Given the description of an element on the screen output the (x, y) to click on. 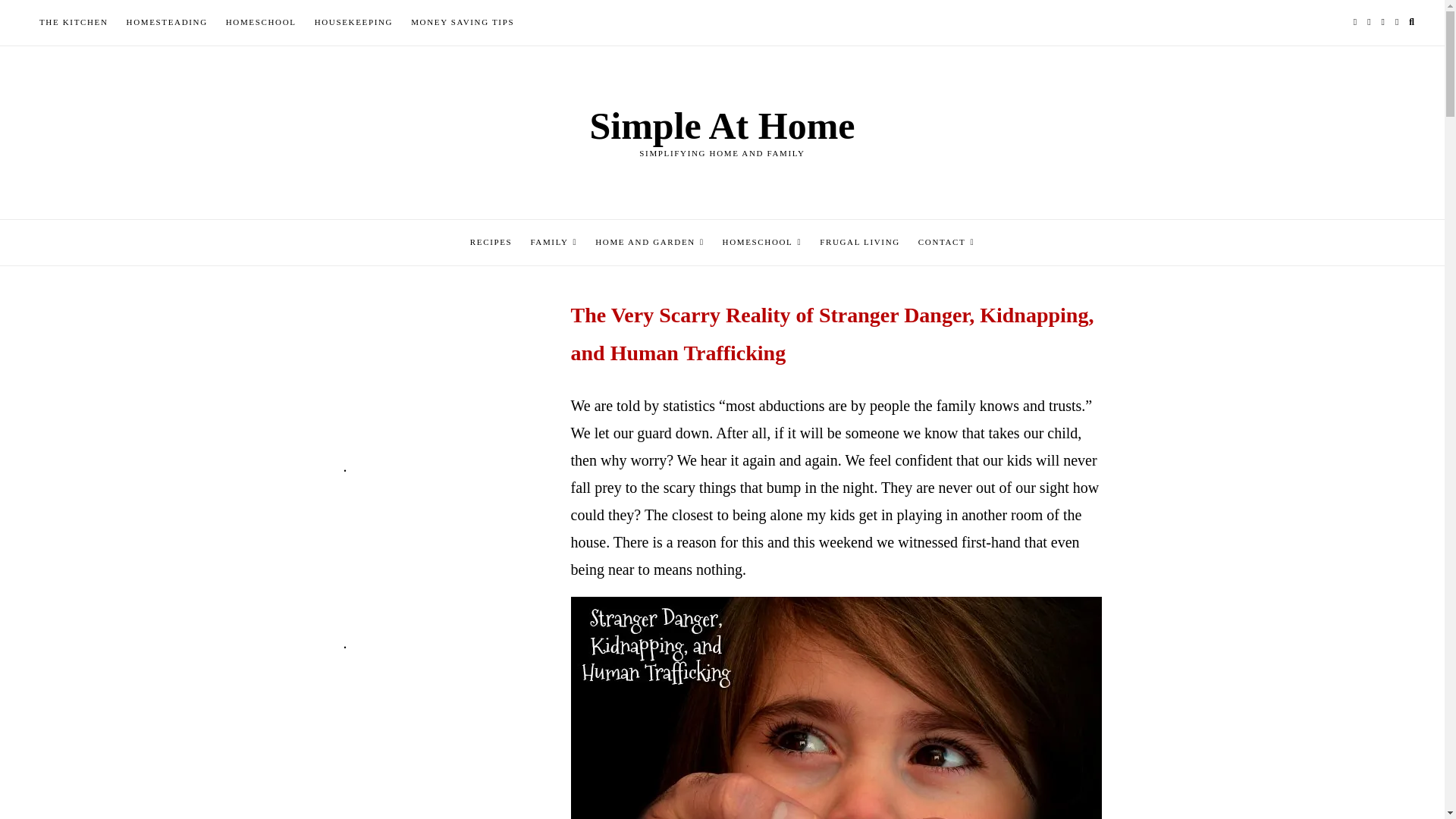
Simple At Home (722, 125)
HOMESTEADING (166, 22)
HOME AND GARDEN (649, 242)
HOMESCHOOL (761, 242)
HOUSEKEEPING (354, 22)
THE KITCHEN (73, 22)
CONTACT (946, 242)
FAMILY (553, 242)
HOMESCHOOL (260, 22)
MONEY SAVING TIPS (461, 22)
FRUGAL LIVING (859, 242)
Simple At Home (722, 125)
RECIPES (491, 242)
